Given the description of an element on the screen output the (x, y) to click on. 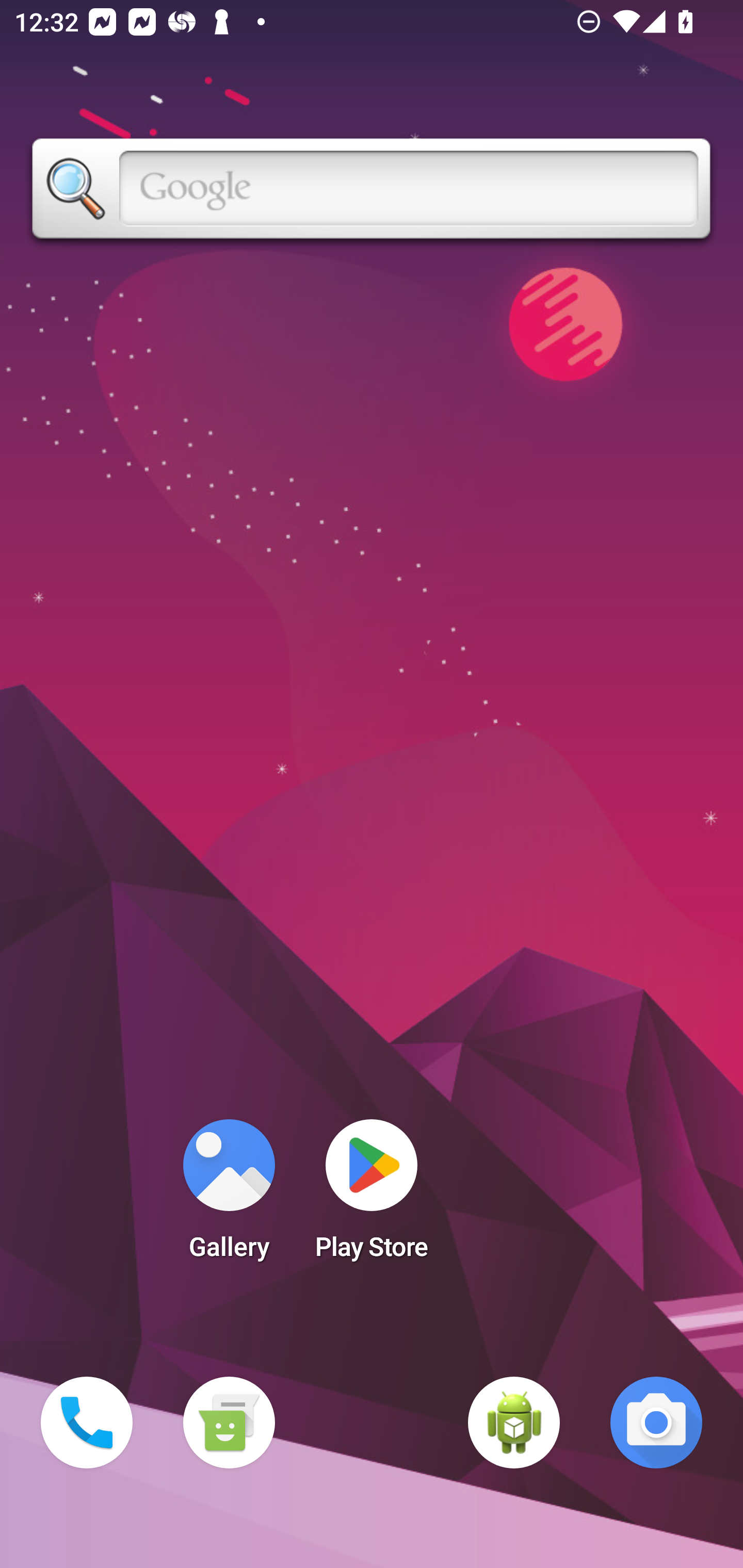
Gallery (228, 1195)
Play Store (371, 1195)
Phone (86, 1422)
Messaging (228, 1422)
WebView Browser Tester (513, 1422)
Camera (656, 1422)
